Given the description of an element on the screen output the (x, y) to click on. 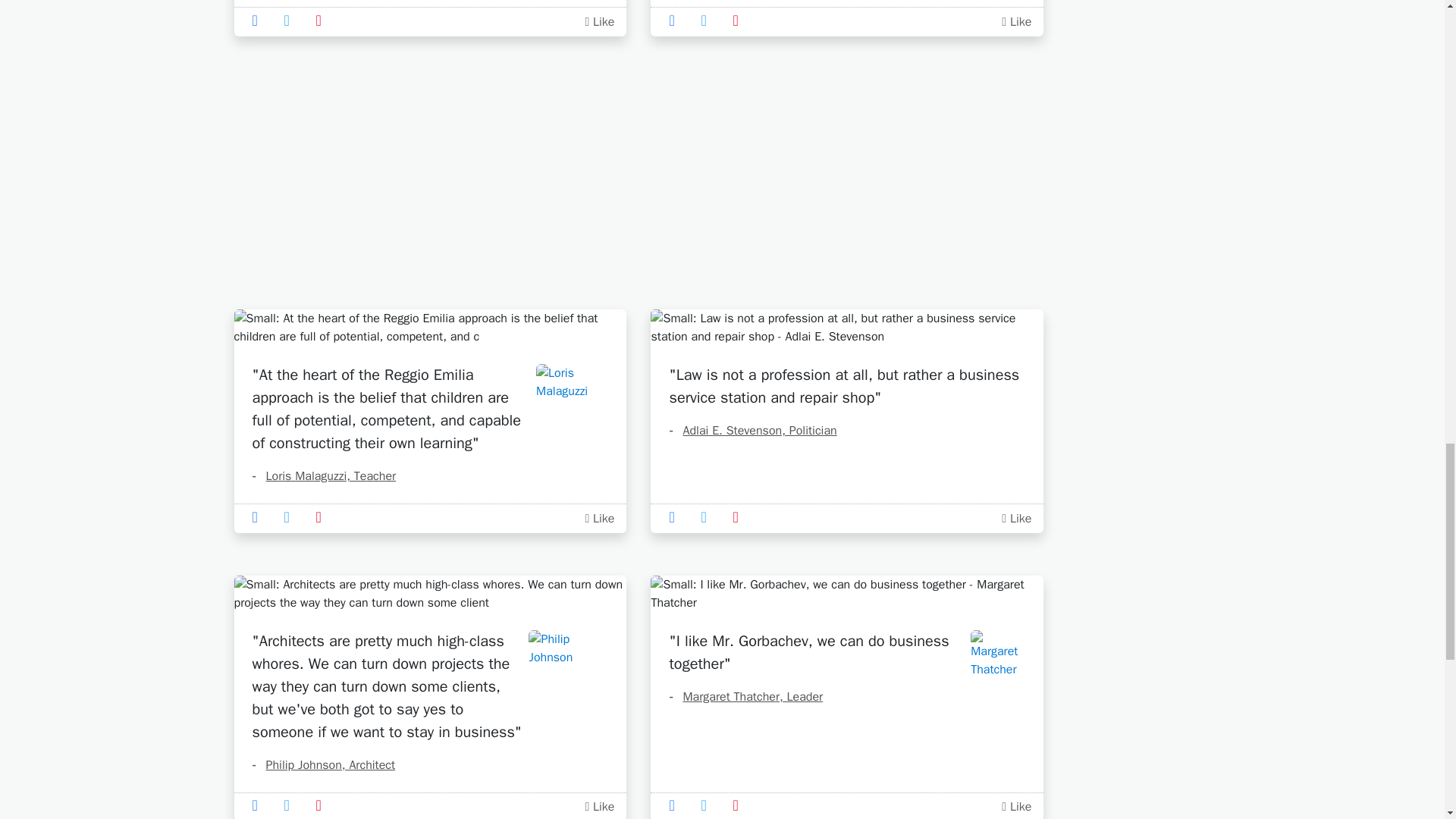
Share on Facebook (258, 20)
Share on Twitter (290, 20)
Adlai E. Stevenson, Politician (751, 430)
Margaret Thatcher, Leader (745, 696)
Share on Pinterest (322, 20)
Loris Malaguzzi, Teacher (323, 476)
Philip Johnson, Architect (322, 765)
